Given the description of an element on the screen output the (x, y) to click on. 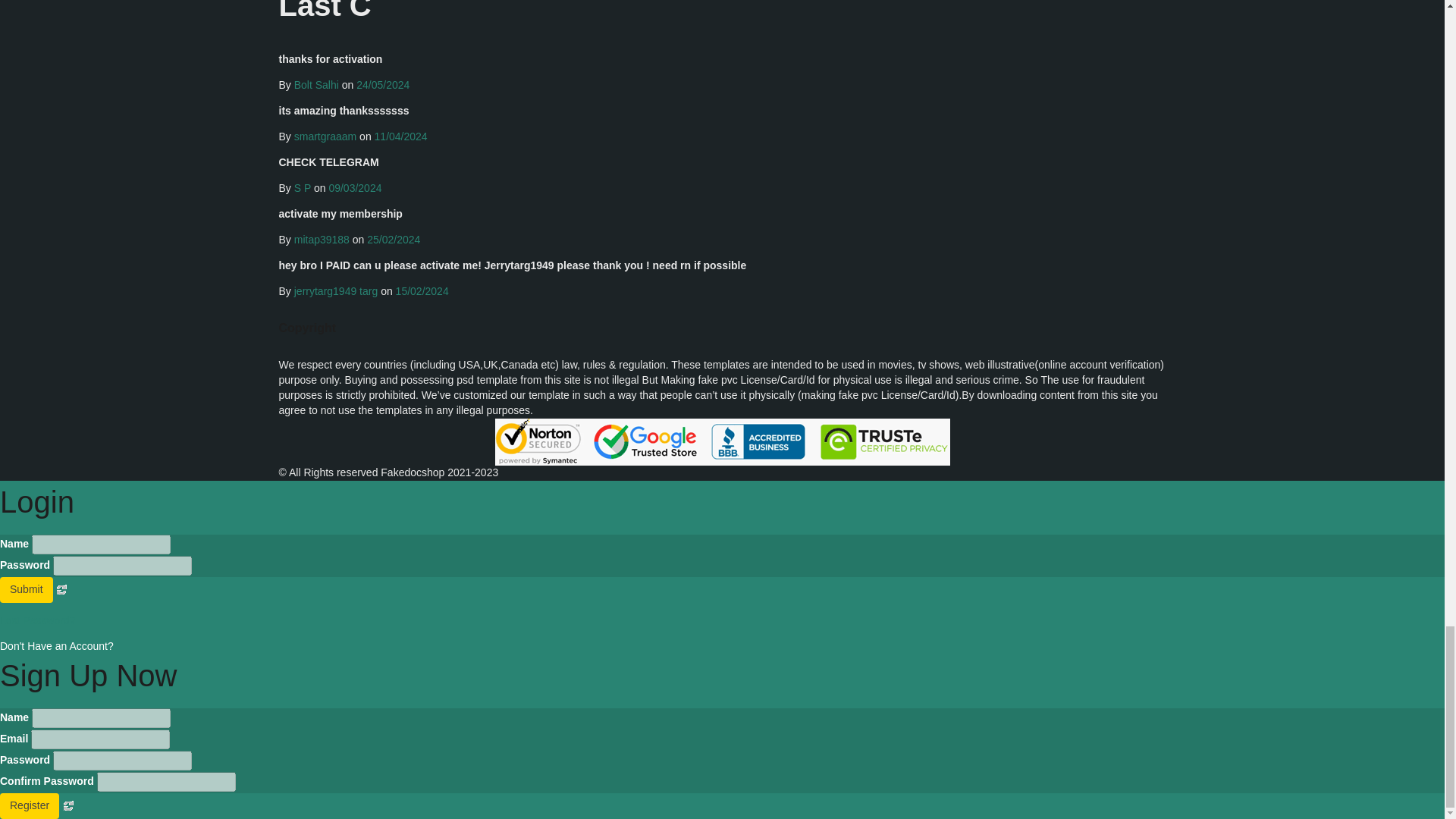
Submit  (26, 589)
